Given the description of an element on the screen output the (x, y) to click on. 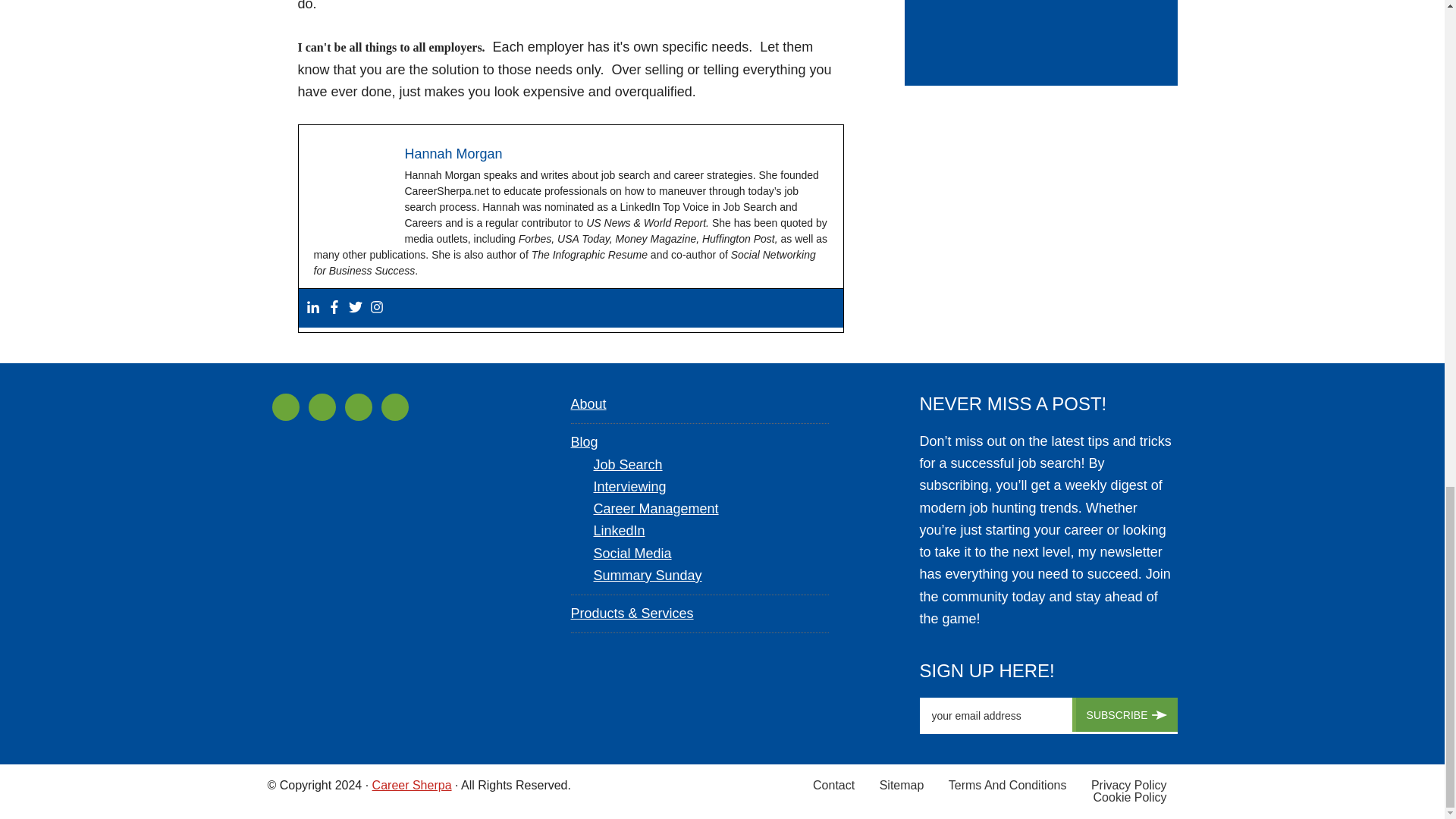
SUBSCRIBE (1124, 714)
Hannah Morgan (453, 153)
Career Sherpa (411, 784)
